Given the description of an element on the screen output the (x, y) to click on. 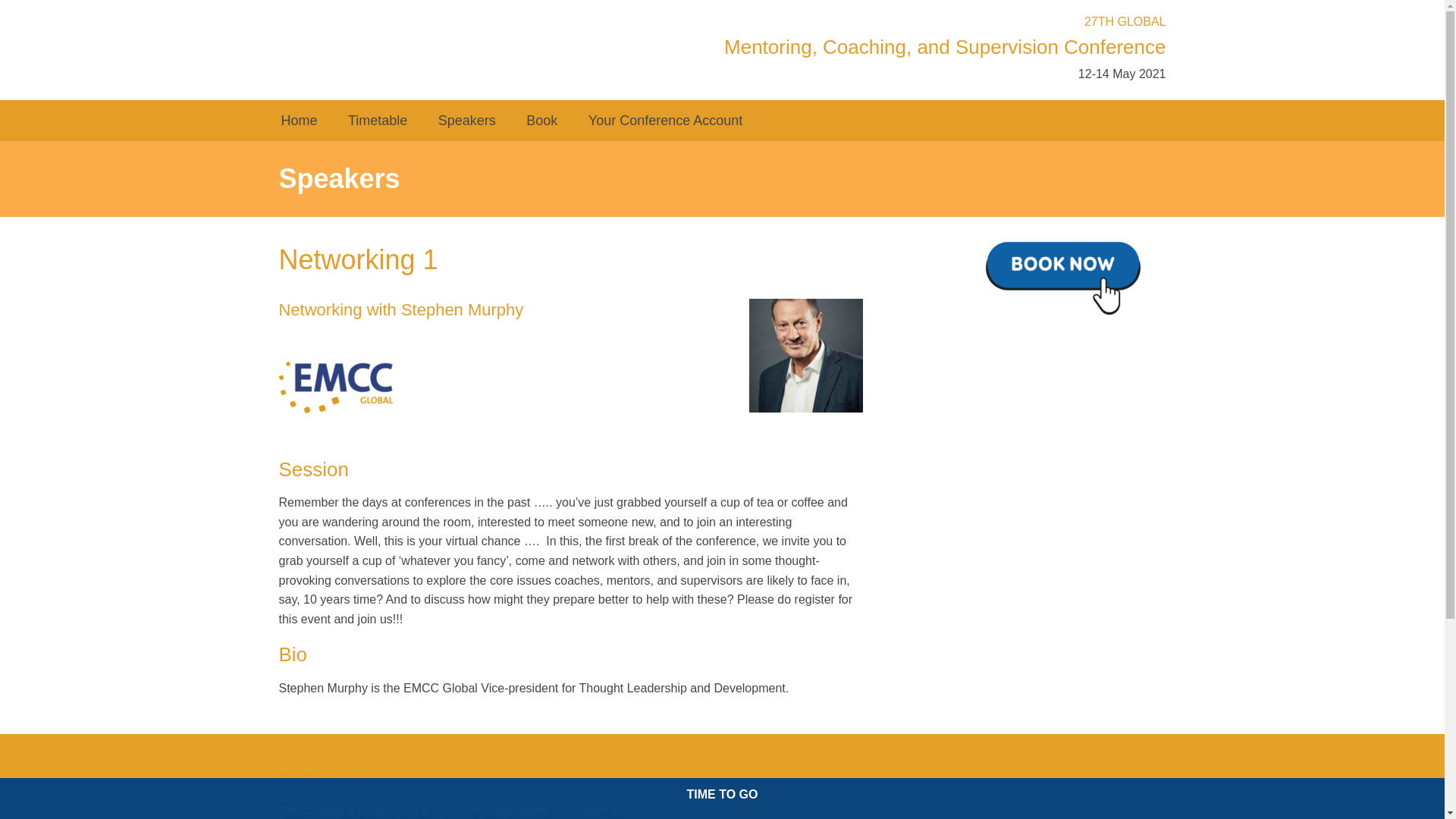
Home (298, 119)
Book (541, 119)
Timetable (377, 119)
Speakers (467, 119)
Your Conference Account (665, 119)
